Given the description of an element on the screen output the (x, y) to click on. 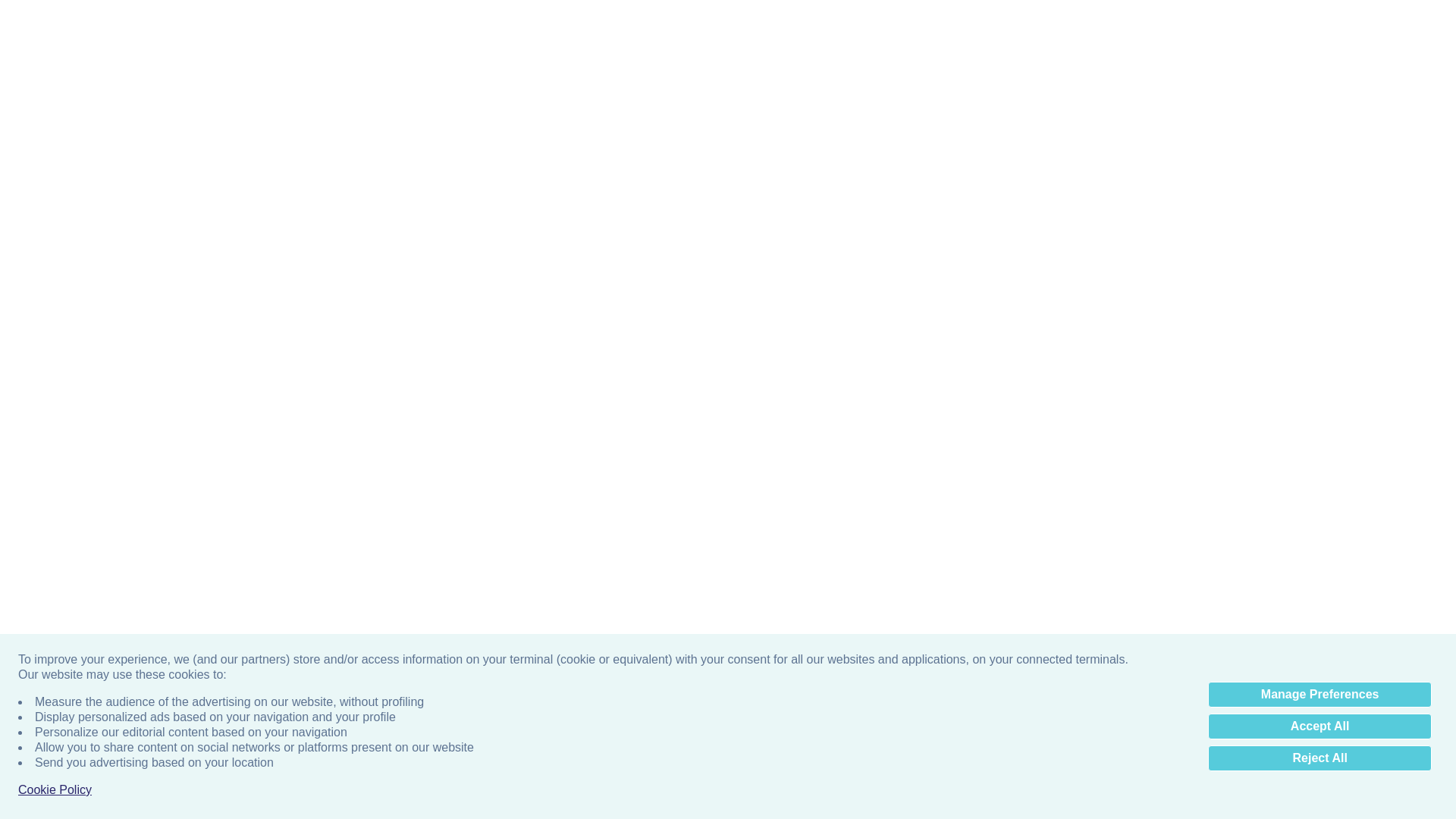
Accept All (1319, 726)
Reject All (1319, 758)
Cookie Policy (54, 789)
Manage Preferences (1319, 694)
